Given the description of an element on the screen output the (x, y) to click on. 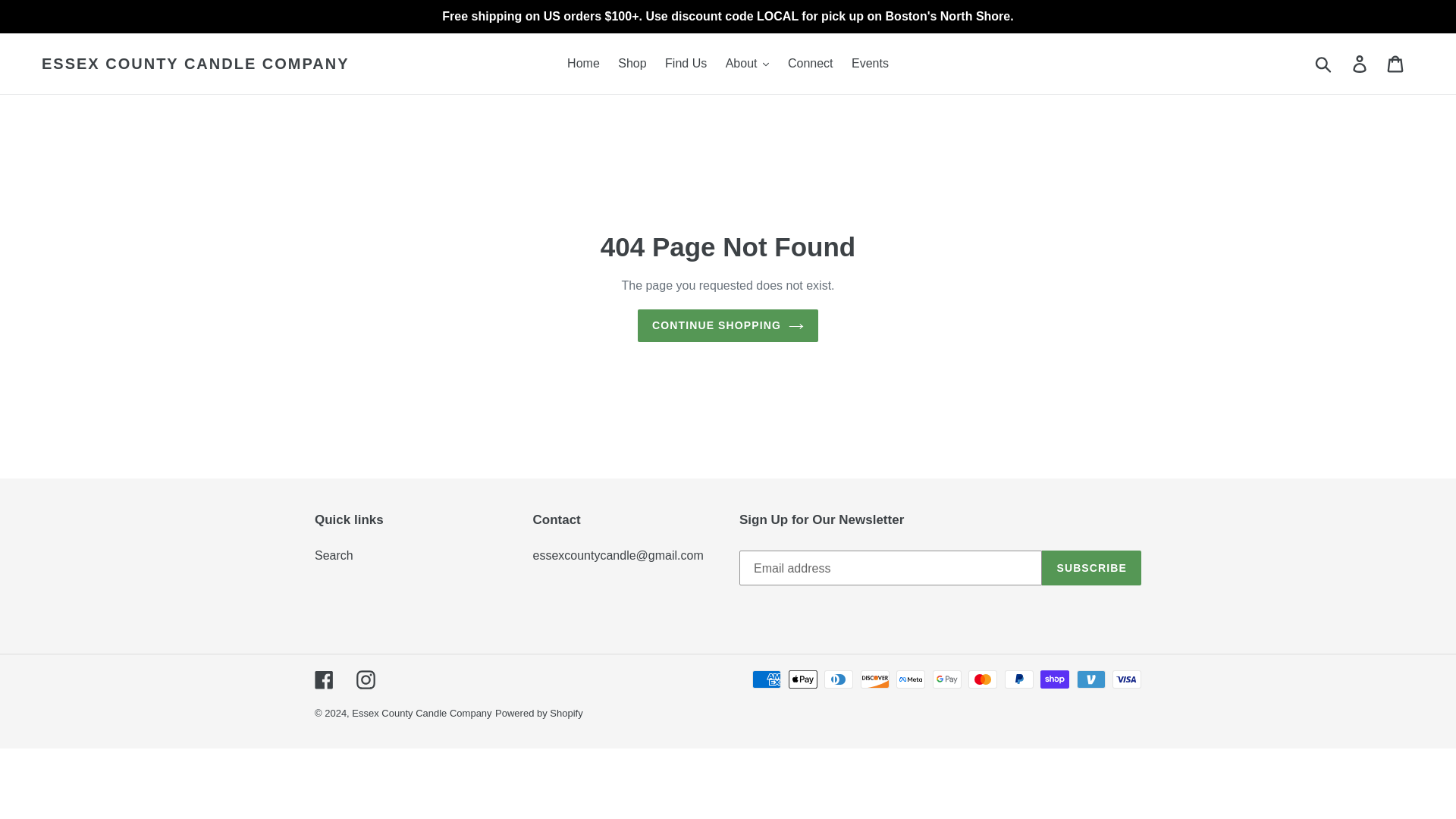
Submit (1324, 63)
Connect (810, 63)
Shop (631, 63)
Instagram (365, 678)
Search (333, 554)
Essex County Candle Company (422, 713)
Find Us (686, 63)
ESSEX COUNTY CANDLE COMPANY (195, 63)
Facebook (323, 678)
SUBSCRIBE (1091, 567)
Cart (1395, 63)
Home (583, 63)
CONTINUE SHOPPING (727, 325)
Powered by Shopify (539, 713)
Log in (1360, 63)
